Given the description of an element on the screen output the (x, y) to click on. 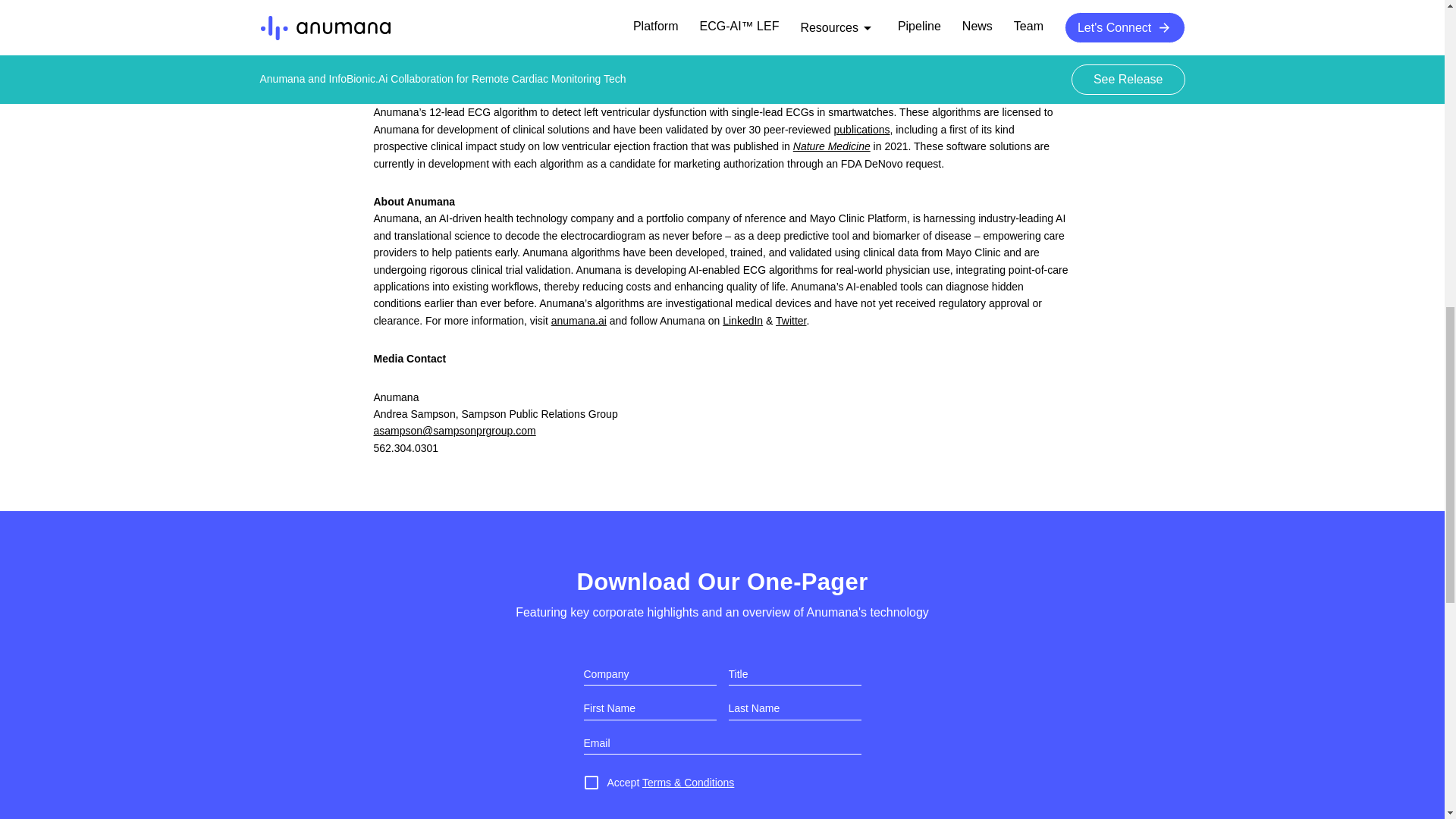
Nature Medicine (831, 146)
Twitter (791, 320)
publications (861, 129)
LinkedIn (742, 320)
recent (729, 95)
anumana.ai (579, 320)
